Given the description of an element on the screen output the (x, y) to click on. 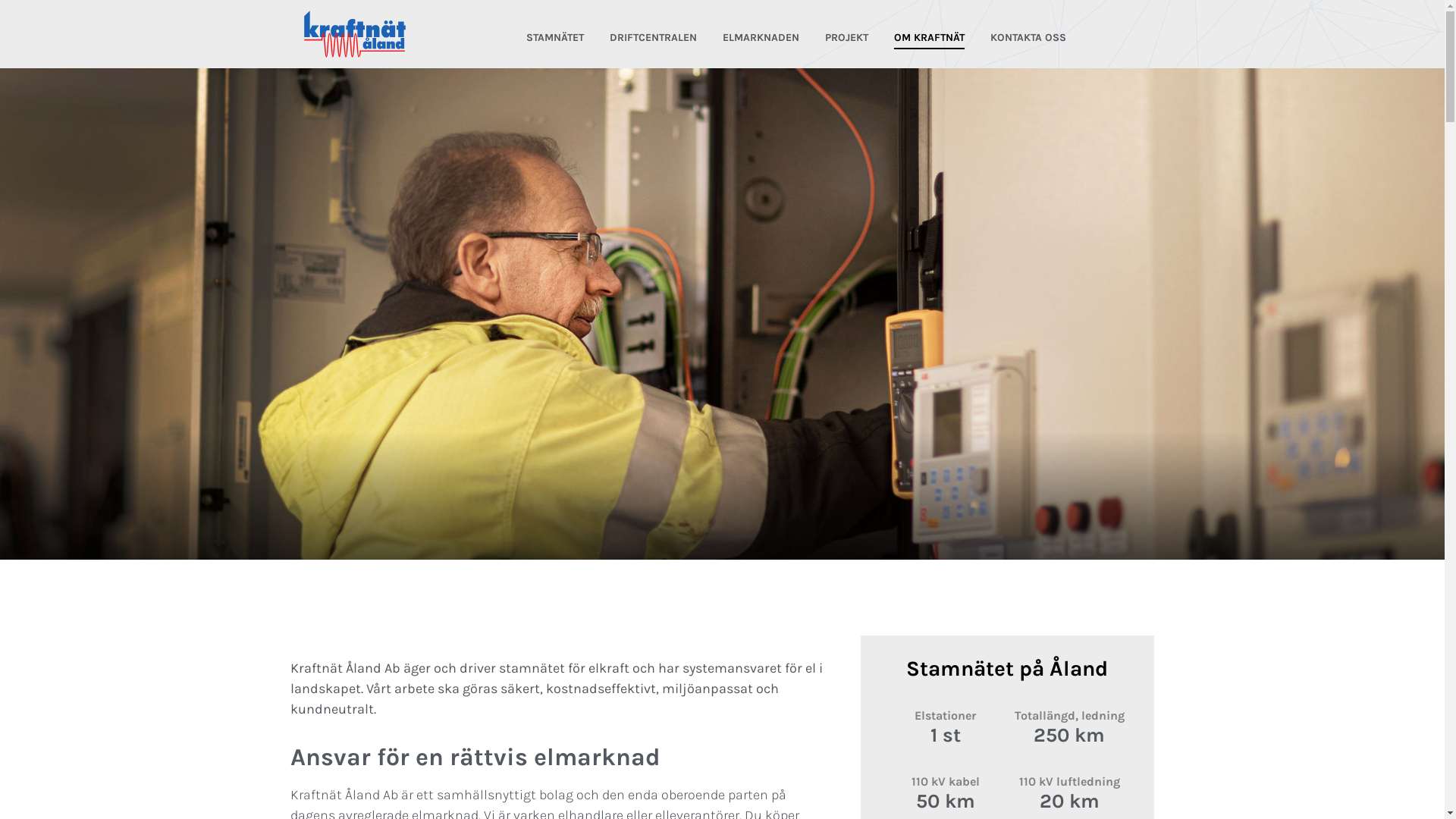
DRIFTCENTRALEN Element type: text (652, 37)
PROJEKT Element type: text (846, 37)
KONTAKTA OSS Element type: text (1028, 37)
ELMARKNADEN Element type: text (760, 37)
